Given the description of an element on the screen output the (x, y) to click on. 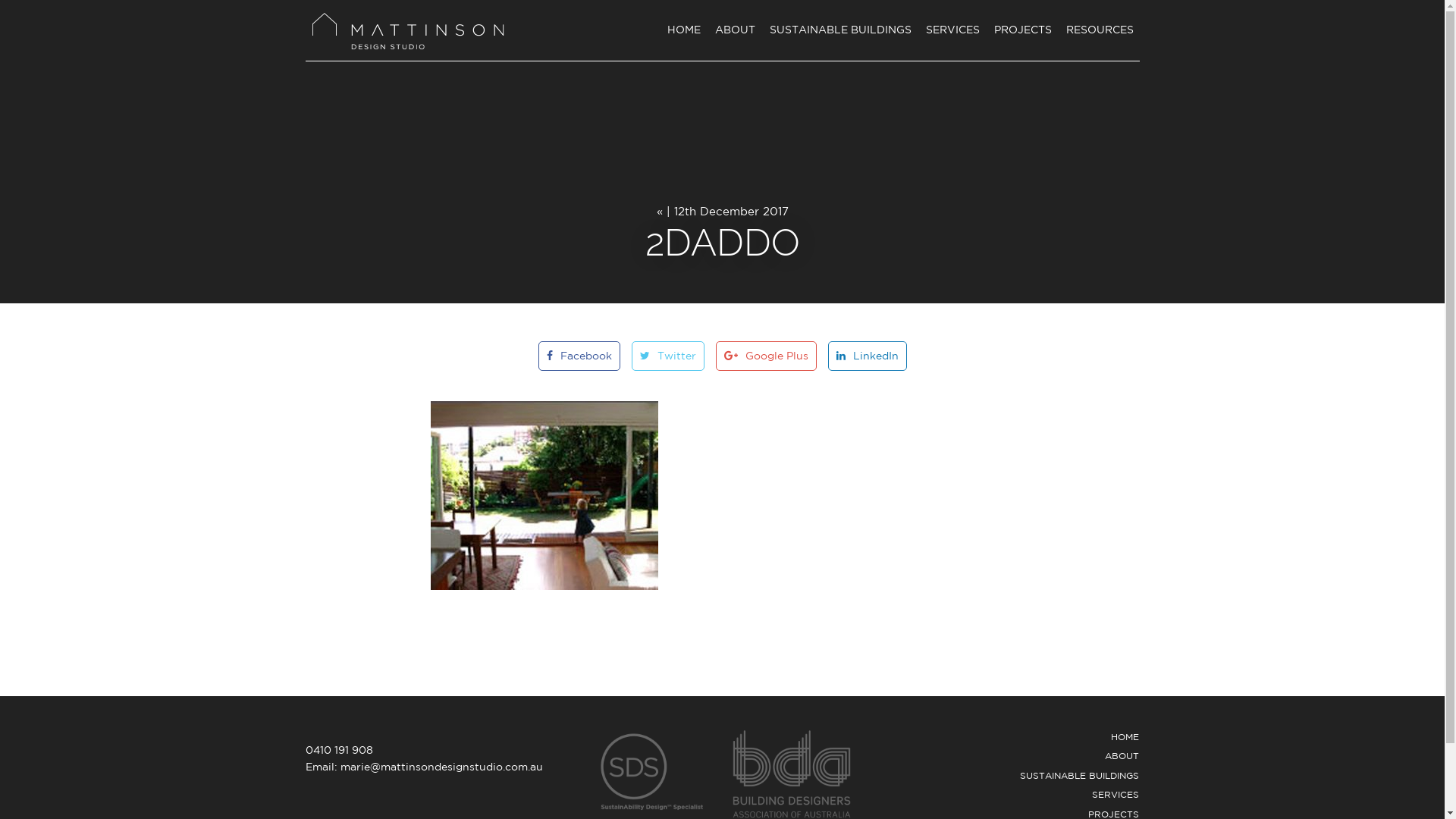
PROJECTS Element type: text (1022, 29)
SUSTAINABLE BUILDINGS Element type: text (840, 29)
PROJECTS Element type: text (1113, 813)
ABOUT Element type: text (1121, 755)
HOME Element type: text (1124, 735)
SERVICES Element type: text (952, 29)
Facebook Element type: text (579, 355)
LinkedIn Element type: text (867, 355)
ABOUT Element type: text (734, 29)
Twitter Element type: text (666, 355)
SUSTAINABLE BUILDINGS Element type: text (1079, 775)
Google Plus Element type: text (765, 355)
SERVICES Element type: text (1115, 794)
HOME Element type: text (684, 29)
RESOURCES Element type: text (1099, 29)
